Given the description of an element on the screen output the (x, y) to click on. 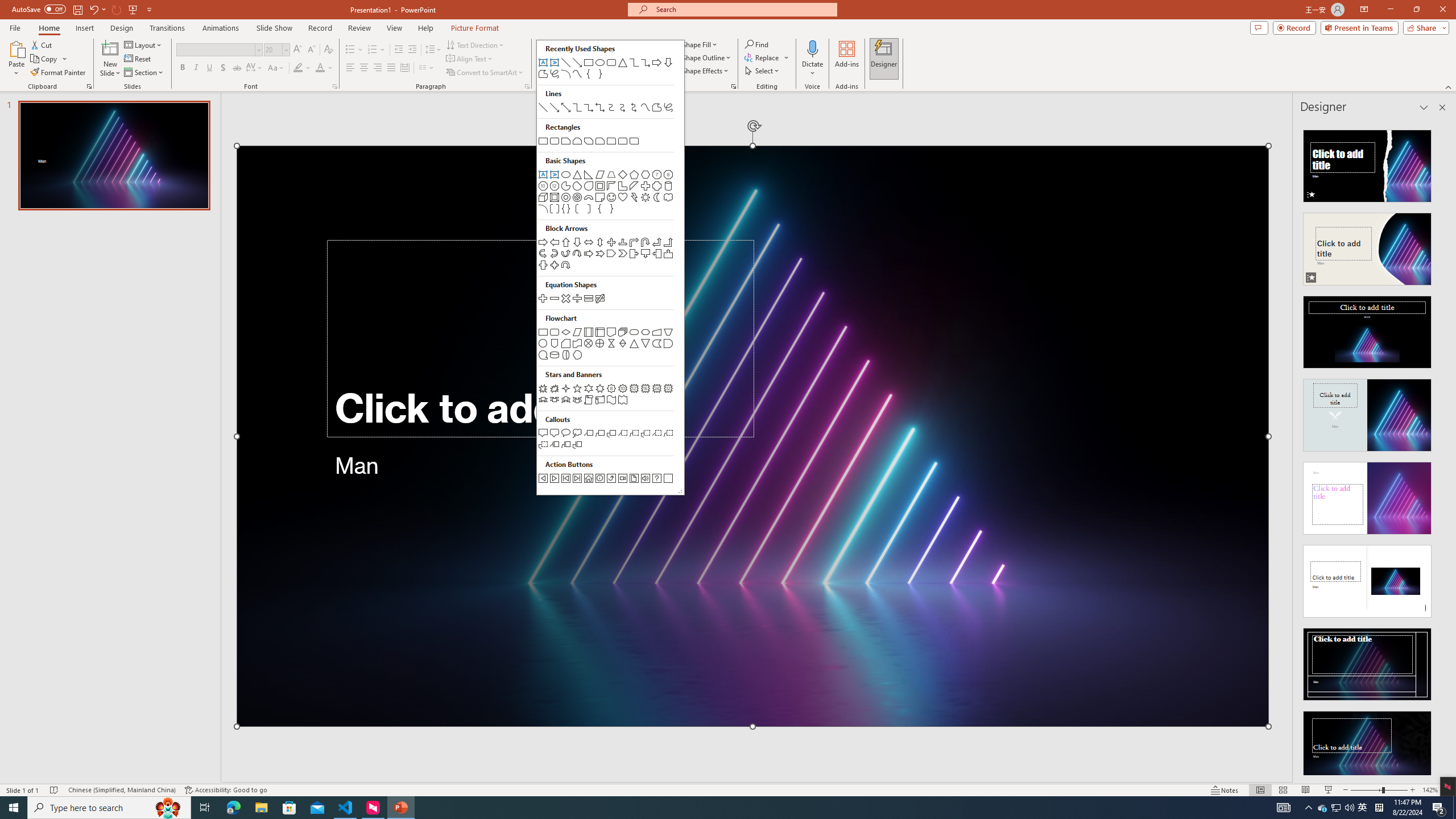
Notes  (1225, 790)
Underline (209, 67)
Format Painter (1322, 807)
Ribbon Display Options (58, 72)
System (1364, 9)
Zoom In (6, 6)
Picture Format (1412, 790)
Zoom Out (475, 28)
Font Size (1366, 790)
Present in Teams (276, 49)
Animations (1359, 27)
Review (220, 28)
Zoom to Fit  (359, 28)
Justify (1449, 790)
